Given the description of an element on the screen output the (x, y) to click on. 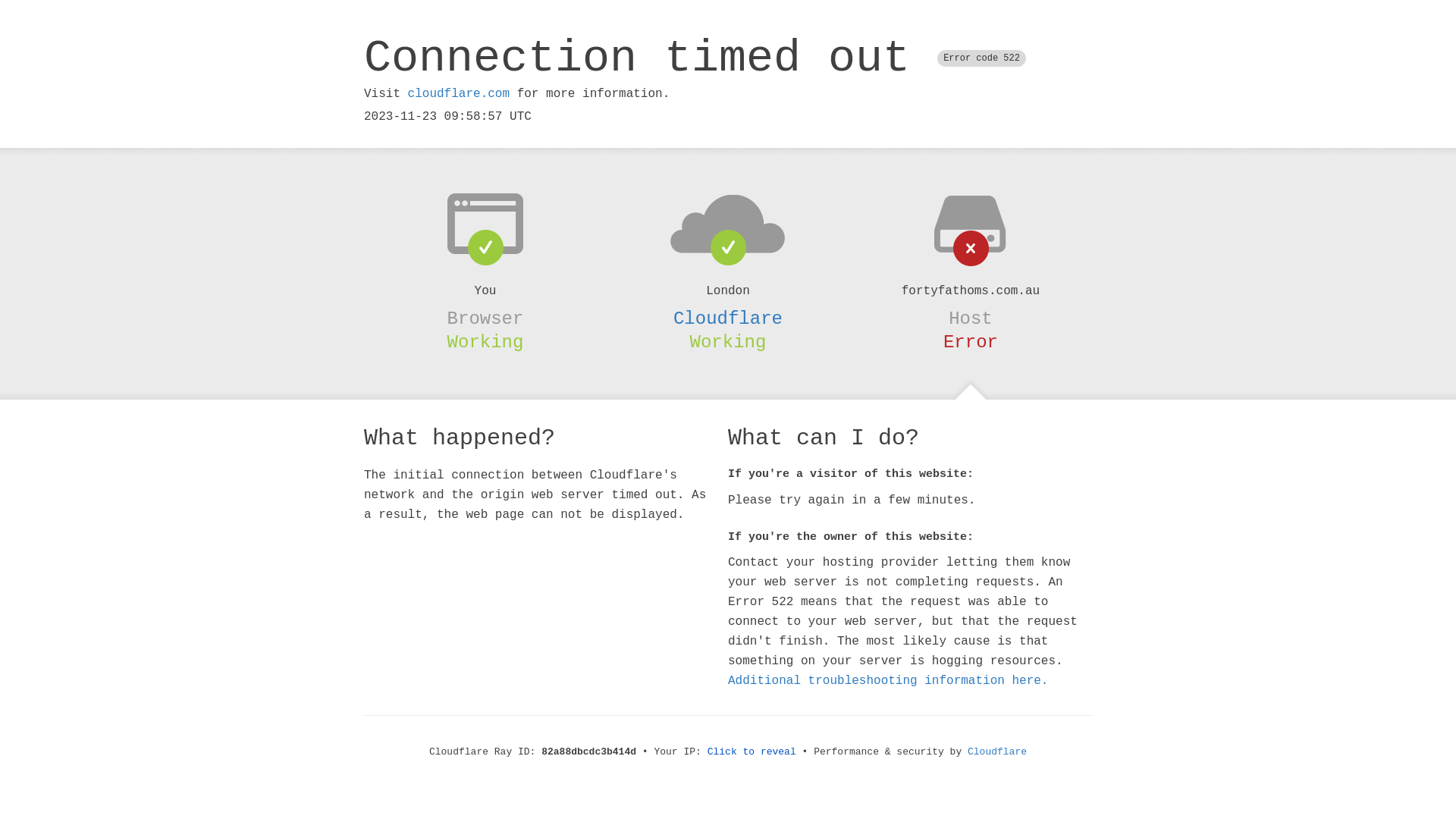
Additional troubleshooting information here. Element type: text (888, 680)
cloudflare.com Element type: text (458, 93)
Click to reveal Element type: text (751, 751)
Cloudflare Element type: text (727, 318)
Cloudflare Element type: text (996, 751)
